Given the description of an element on the screen output the (x, y) to click on. 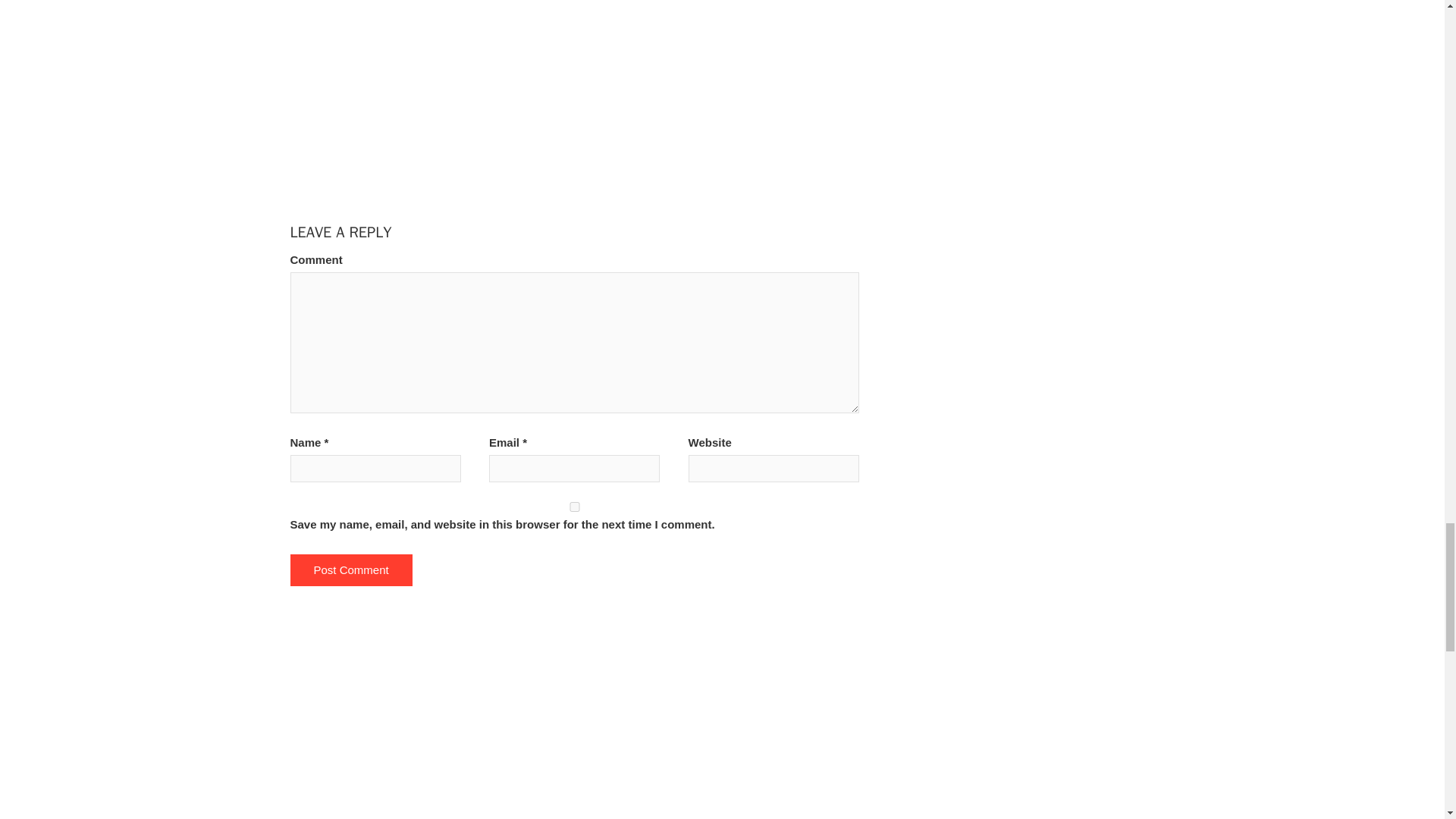
yes (574, 506)
Post Comment (350, 570)
